Given the description of an element on the screen output the (x, y) to click on. 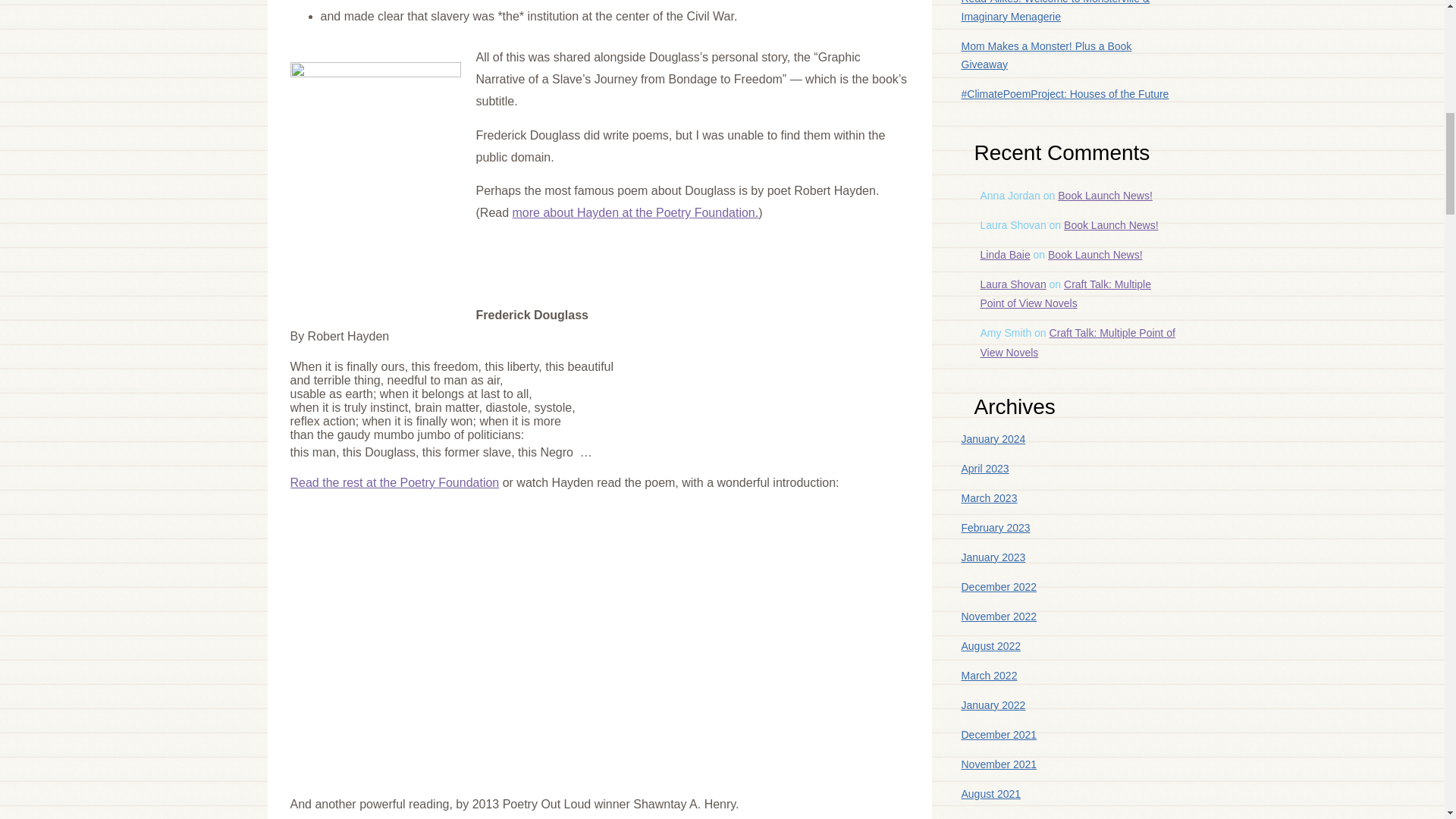
Read the rest at the Poetry Foundation (394, 481)
more about Hayden at the Poetry Foundation. (635, 212)
Robert Hayden reads Frederick Douglass (478, 631)
